Given the description of an element on the screen output the (x, y) to click on. 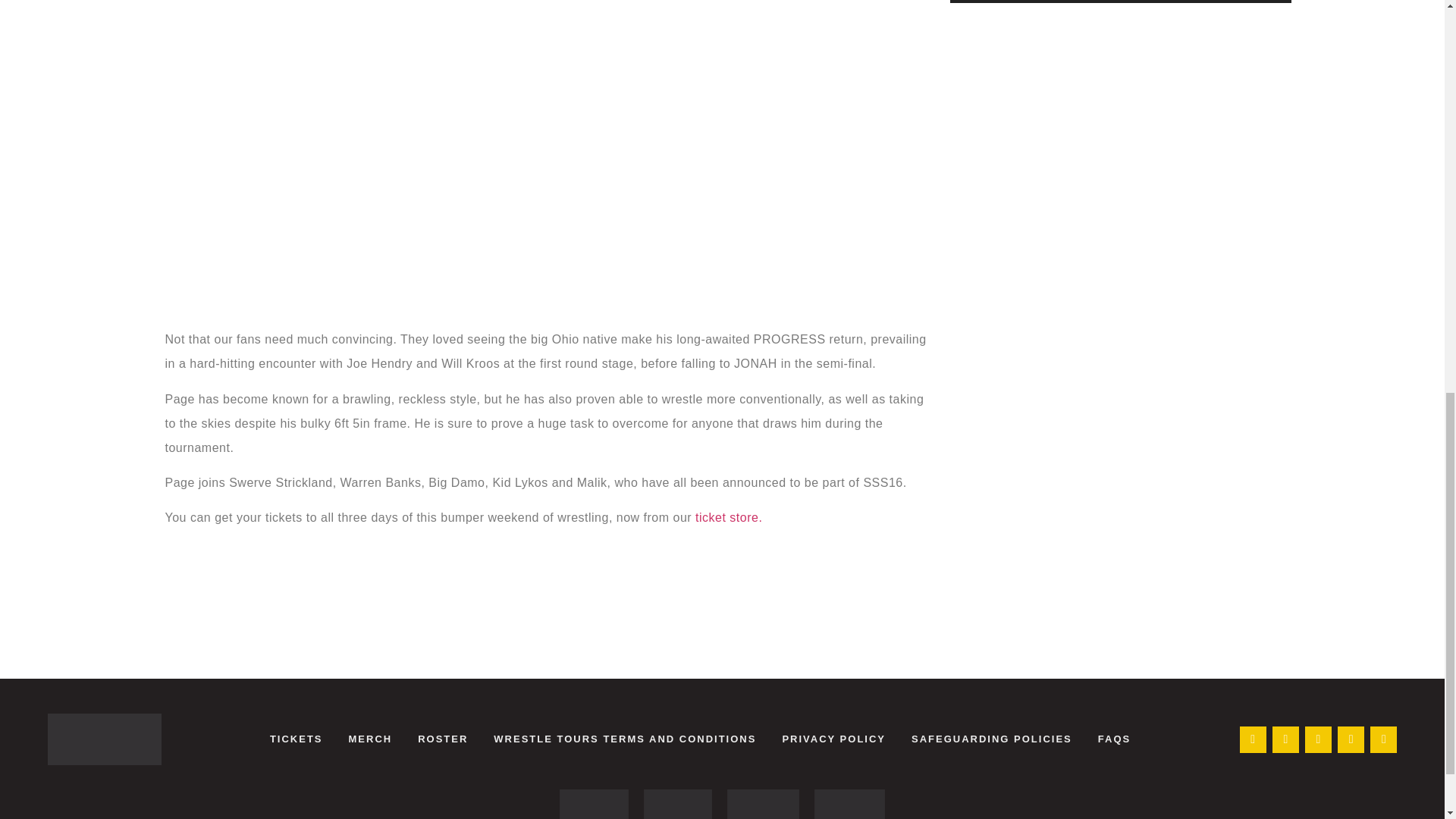
WRESTLE TOURS TERMS AND CONDITIONS (624, 739)
FAQS (1113, 739)
MERCH (369, 739)
PRIVACY POLICY (833, 739)
ROSTER (442, 739)
merch - PROGRESS Wrestling - Watch on Demand PROGRESS PLUS (849, 804)
TICKETS (296, 739)
ticket store. (728, 517)
SAFEGUARDING POLICIES (991, 739)
logo - PROGRESS Wrestling - Watch on Demand PROGRESS PLUS (677, 804)
